Given the description of an element on the screen output the (x, y) to click on. 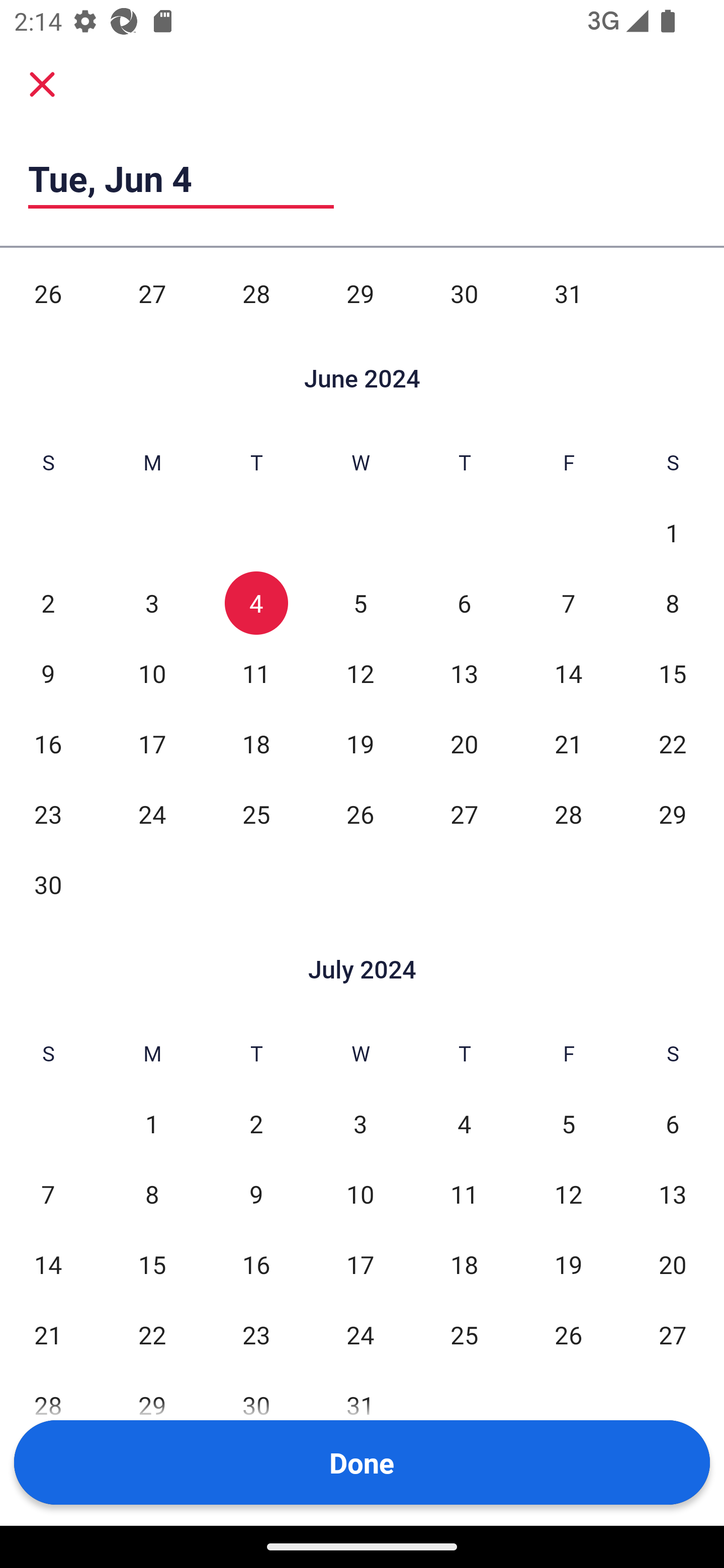
Cancel (41, 83)
Tue, Jun 4 (180, 178)
26 Sun, May 26, Not Selected (48, 293)
27 Mon, May 27, Not Selected (152, 293)
28 Tue, May 28, Not Selected (256, 293)
29 Wed, May 29, Not Selected (360, 293)
30 Thu, May 30, Not Selected (464, 293)
31 Fri, May 31, Not Selected (568, 293)
1 Sat, Jun 1, Not Selected (672, 532)
2 Sun, Jun 2, Not Selected (48, 602)
3 Mon, Jun 3, Not Selected (152, 602)
4 Tue, Jun 4, Selected (256, 602)
5 Wed, Jun 5, Not Selected (360, 602)
6 Thu, Jun 6, Not Selected (464, 602)
7 Fri, Jun 7, Not Selected (568, 602)
8 Sat, Jun 8, Not Selected (672, 602)
9 Sun, Jun 9, Not Selected (48, 673)
10 Mon, Jun 10, Not Selected (152, 673)
11 Tue, Jun 11, Not Selected (256, 673)
12 Wed, Jun 12, Not Selected (360, 673)
13 Thu, Jun 13, Not Selected (464, 673)
14 Fri, Jun 14, Not Selected (568, 673)
15 Sat, Jun 15, Not Selected (672, 673)
16 Sun, Jun 16, Not Selected (48, 743)
17 Mon, Jun 17, Not Selected (152, 743)
18 Tue, Jun 18, Not Selected (256, 743)
19 Wed, Jun 19, Not Selected (360, 743)
20 Thu, Jun 20, Not Selected (464, 743)
21 Fri, Jun 21, Not Selected (568, 743)
22 Sat, Jun 22, Not Selected (672, 743)
23 Sun, Jun 23, Not Selected (48, 814)
24 Mon, Jun 24, Not Selected (152, 814)
25 Tue, Jun 25, Not Selected (256, 814)
26 Wed, Jun 26, Not Selected (360, 814)
27 Thu, Jun 27, Not Selected (464, 814)
28 Fri, Jun 28, Not Selected (568, 814)
29 Sat, Jun 29, Not Selected (672, 814)
30 Sun, Jun 30, Not Selected (48, 884)
1 Mon, Jul 1, Not Selected (152, 1123)
2 Tue, Jul 2, Not Selected (256, 1123)
3 Wed, Jul 3, Not Selected (360, 1123)
4 Thu, Jul 4, Not Selected (464, 1123)
5 Fri, Jul 5, Not Selected (568, 1123)
6 Sat, Jul 6, Not Selected (672, 1123)
7 Sun, Jul 7, Not Selected (48, 1193)
8 Mon, Jul 8, Not Selected (152, 1193)
9 Tue, Jul 9, Not Selected (256, 1193)
10 Wed, Jul 10, Not Selected (360, 1193)
11 Thu, Jul 11, Not Selected (464, 1193)
12 Fri, Jul 12, Not Selected (568, 1193)
13 Sat, Jul 13, Not Selected (672, 1193)
14 Sun, Jul 14, Not Selected (48, 1264)
15 Mon, Jul 15, Not Selected (152, 1264)
16 Tue, Jul 16, Not Selected (256, 1264)
17 Wed, Jul 17, Not Selected (360, 1264)
18 Thu, Jul 18, Not Selected (464, 1264)
19 Fri, Jul 19, Not Selected (568, 1264)
20 Sat, Jul 20, Not Selected (672, 1264)
21 Sun, Jul 21, Not Selected (48, 1334)
22 Mon, Jul 22, Not Selected (152, 1334)
23 Tue, Jul 23, Not Selected (256, 1334)
24 Wed, Jul 24, Not Selected (360, 1334)
25 Thu, Jul 25, Not Selected (464, 1334)
26 Fri, Jul 26, Not Selected (568, 1334)
27 Sat, Jul 27, Not Selected (672, 1334)
28 Sun, Jul 28, Not Selected (48, 1405)
29 Mon, Jul 29, Not Selected (152, 1405)
30 Tue, Jul 30, Not Selected (256, 1405)
31 Wed, Jul 31, Not Selected (360, 1405)
Done Button Done (361, 1462)
